Given the description of an element on the screen output the (x, y) to click on. 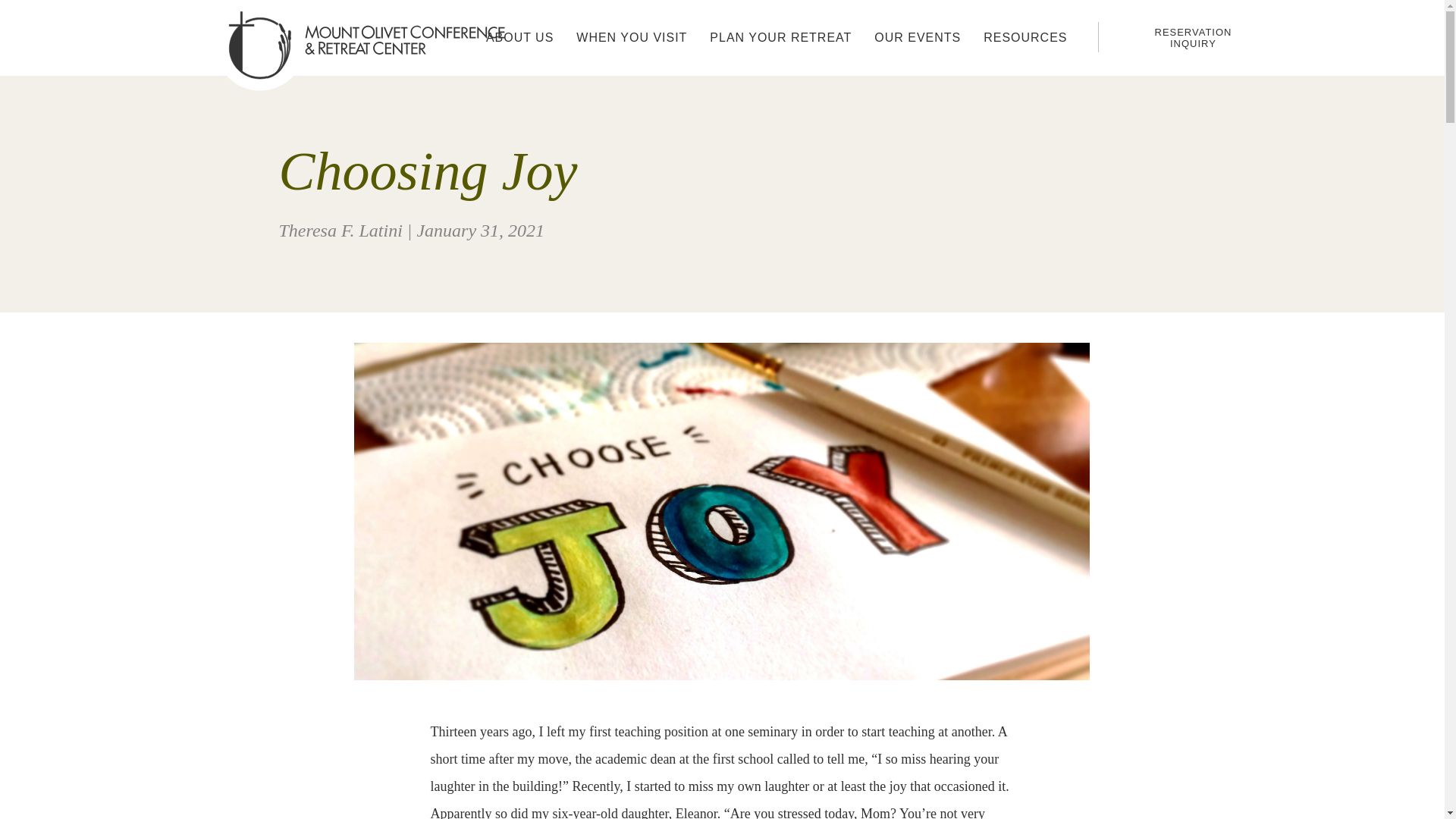
RESERVATION INQUIRY (1192, 37)
ABOUT US (519, 38)
PLAN YOUR RETREAT (780, 38)
RESOURCES (1025, 38)
WHEN YOU VISIT (631, 38)
OUR EVENTS (917, 38)
